Given the description of an element on the screen output the (x, y) to click on. 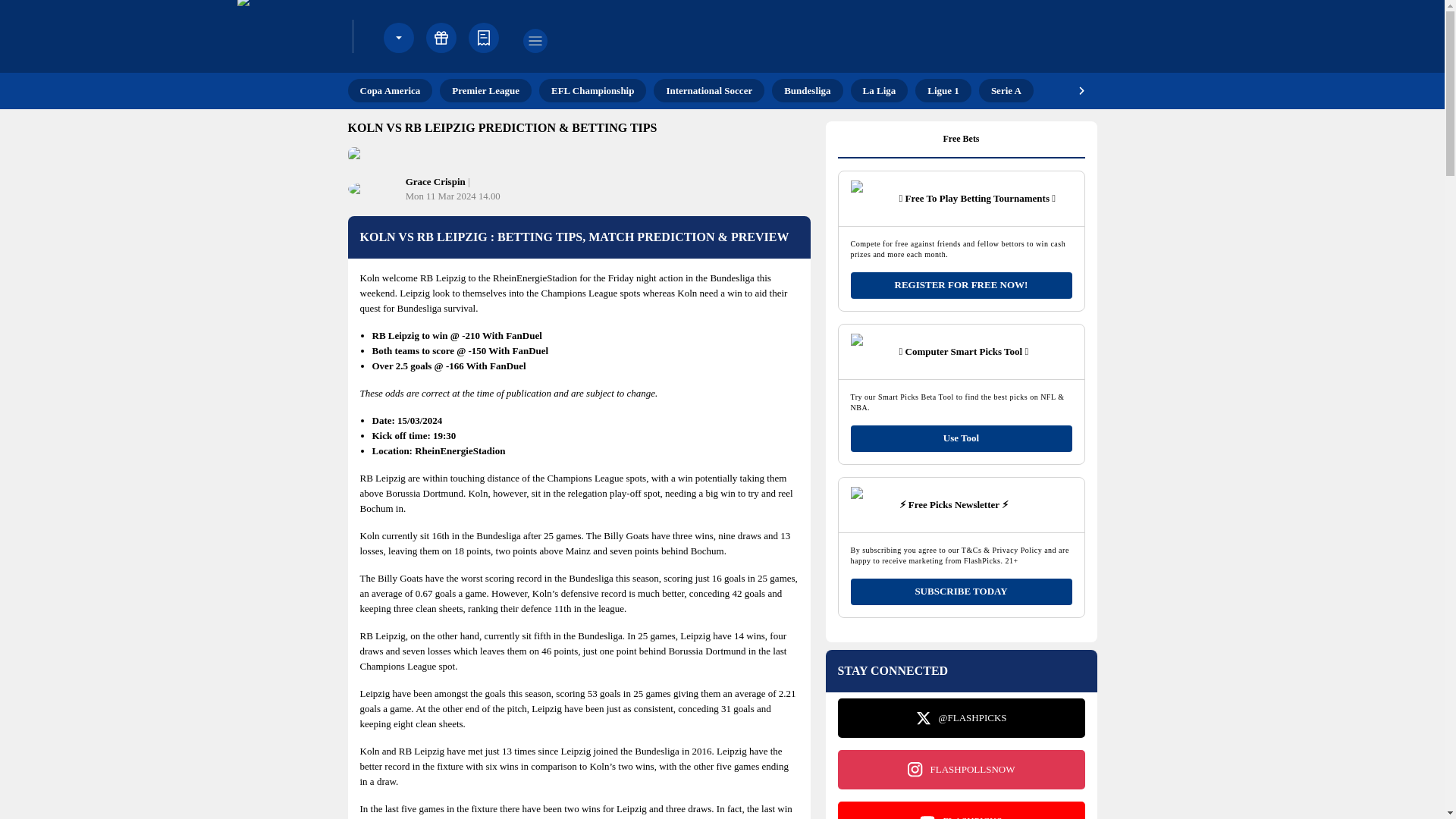
La Liga (879, 90)
Bundesliga (807, 90)
Ligue 1 (943, 90)
EFL Championship (592, 90)
Serie A (1005, 90)
YouTube Logo (927, 816)
International Soccer (708, 90)
Open bet slip (483, 37)
Premier League (485, 90)
Copa America (389, 90)
